Given the description of an element on the screen output the (x, y) to click on. 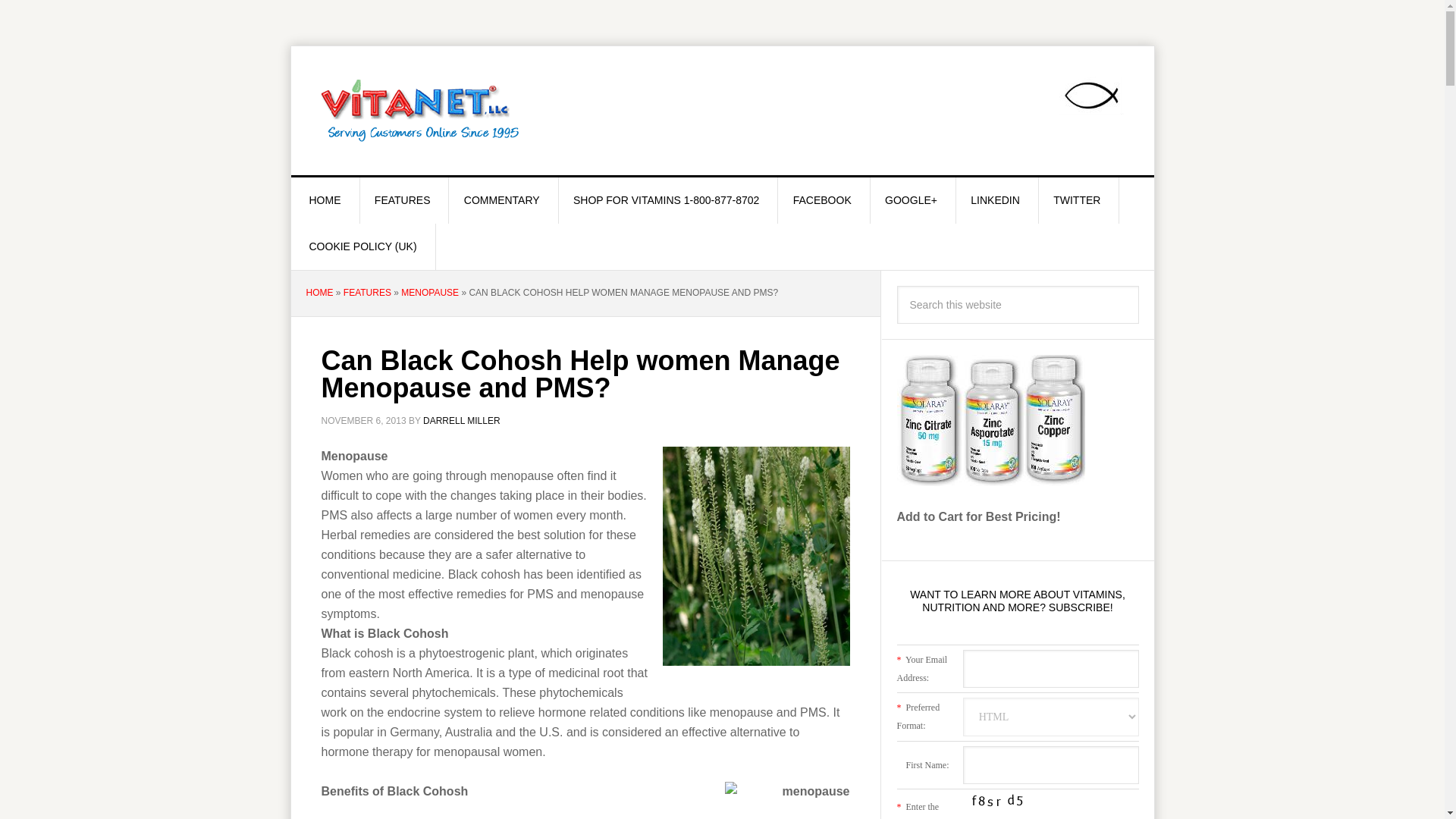
FEATURES (402, 200)
MENOPAUSE (429, 292)
TWITTER (1077, 200)
COMMENTARY (502, 200)
HOME (325, 200)
SHOP FOR VITAMINS 1-800-877-8702 (665, 200)
FEATURES (367, 292)
FACEBOOK (822, 200)
DARRELL MILLER (461, 420)
VITAMINS AND THEIR USES (419, 110)
LINKEDIN (995, 200)
HOME (319, 292)
